Given the description of an element on the screen output the (x, y) to click on. 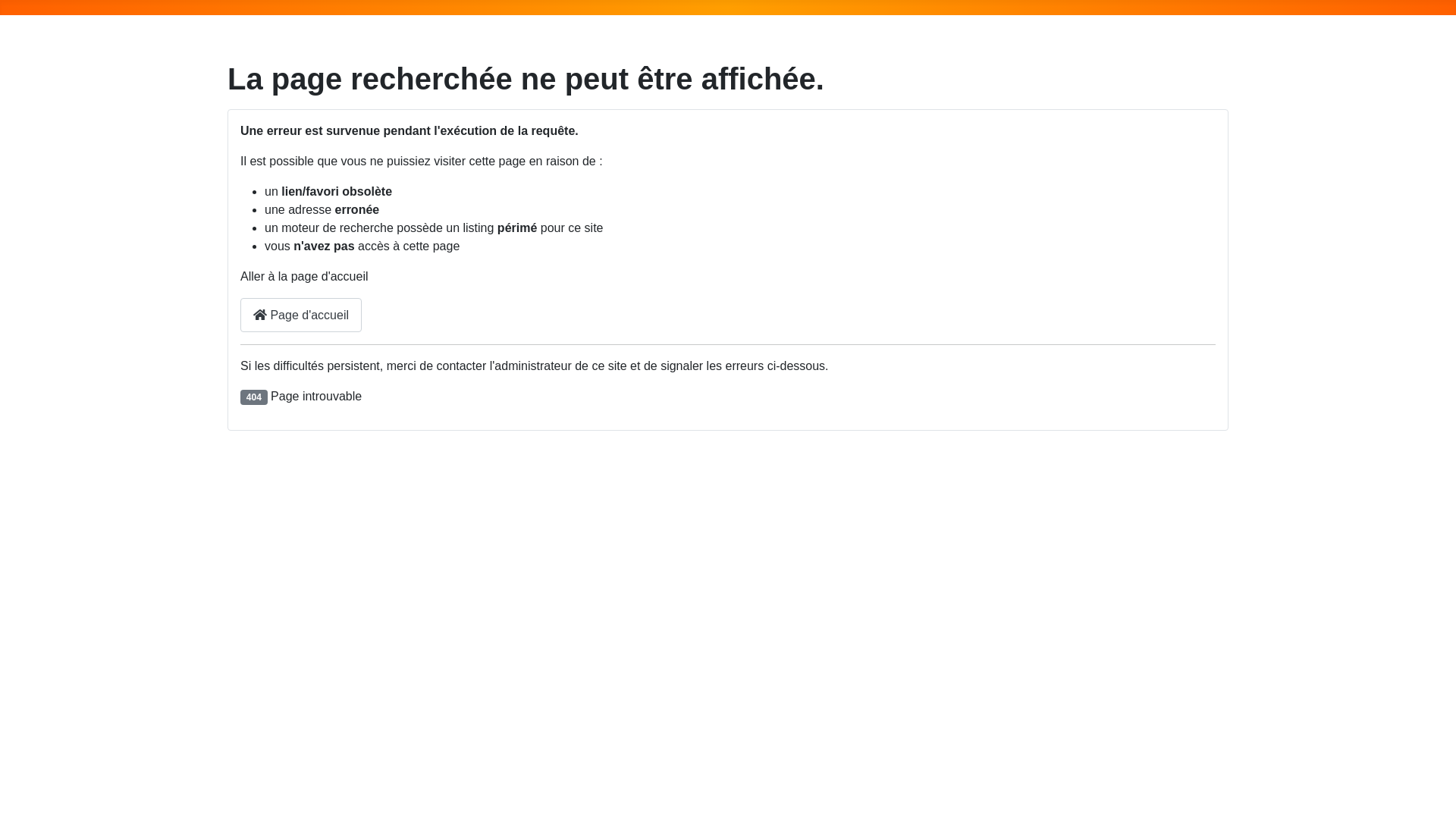
Page d'accueil Element type: text (296, 315)
